Given the description of an element on the screen output the (x, y) to click on. 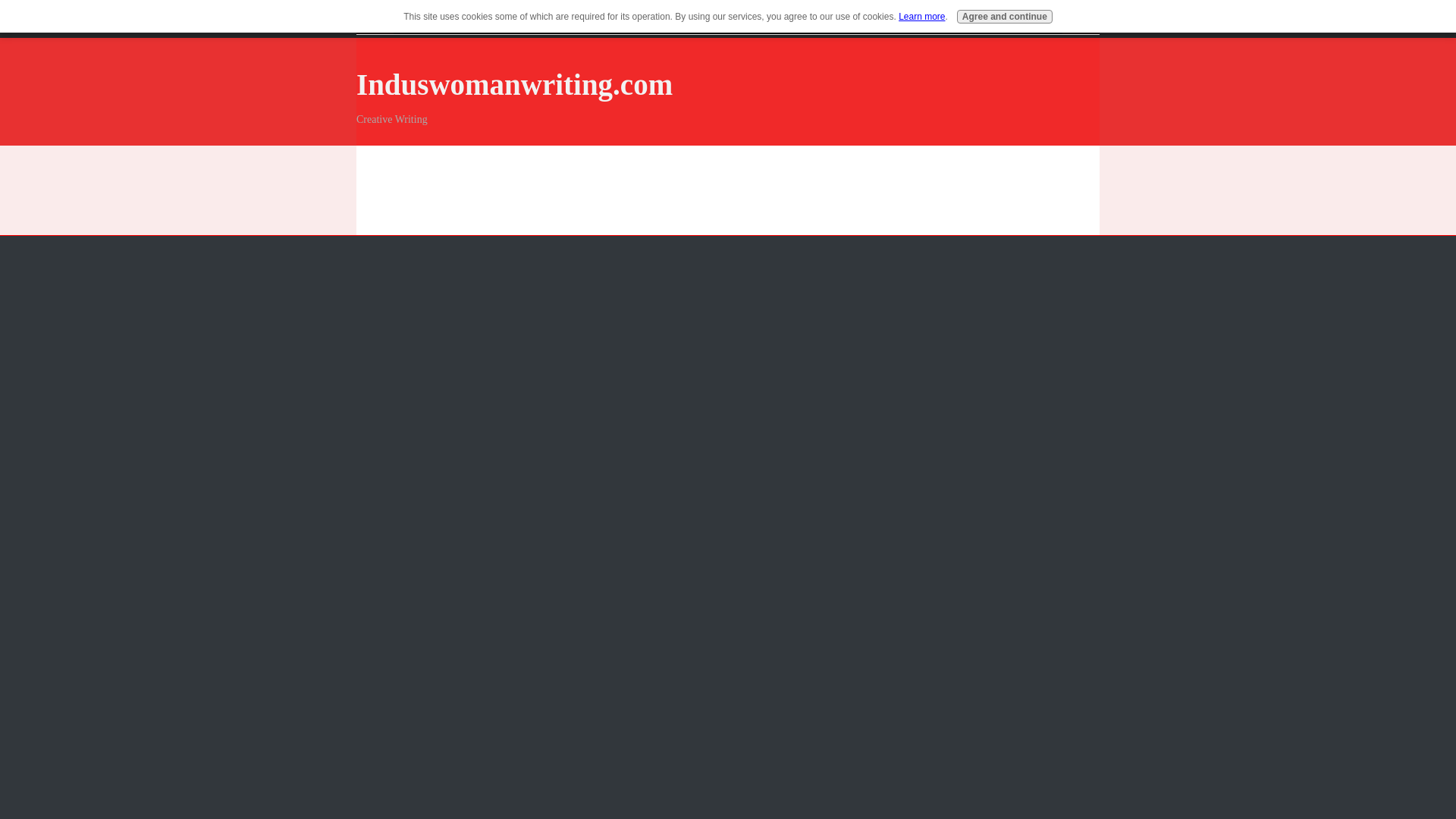
Induswomanwriting.com (514, 83)
SUBMISSION (569, 19)
HOME (417, 19)
